Given the description of an element on the screen output the (x, y) to click on. 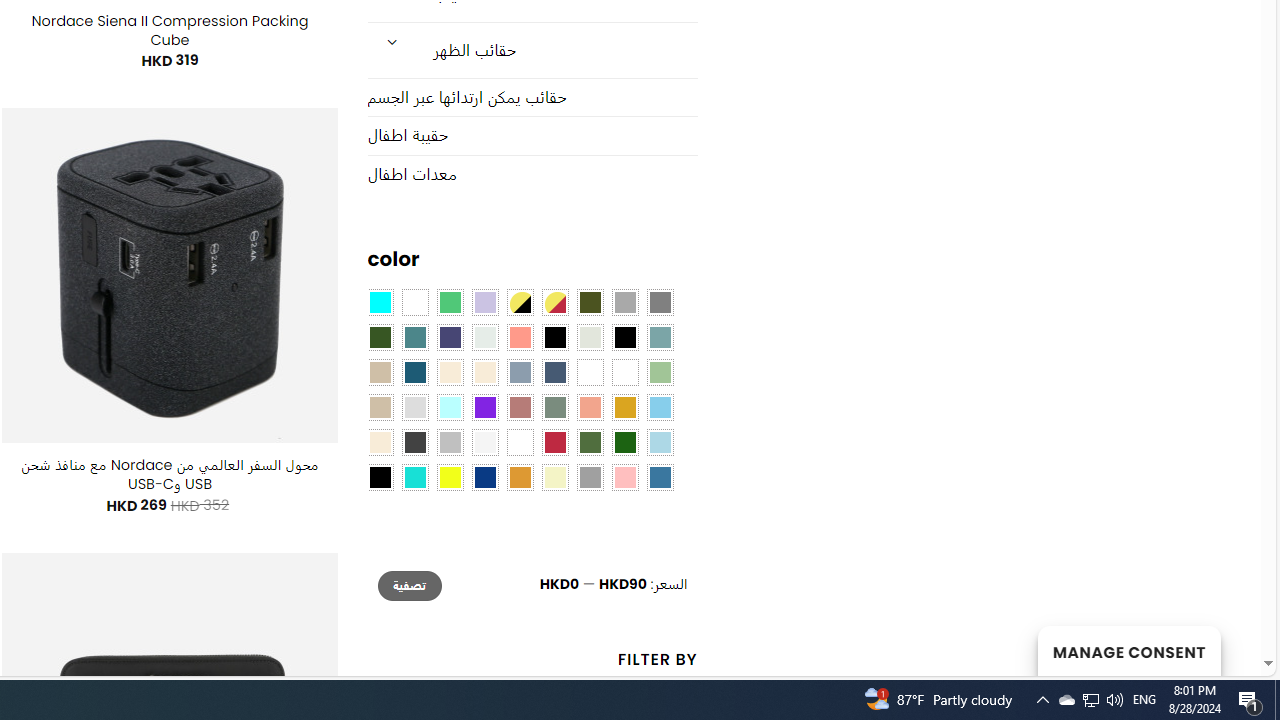
Blue Sage (659, 337)
Rose (519, 408)
Kelp (589, 372)
Emerald Green (449, 303)
Brownie (379, 372)
